Given the description of an element on the screen output the (x, y) to click on. 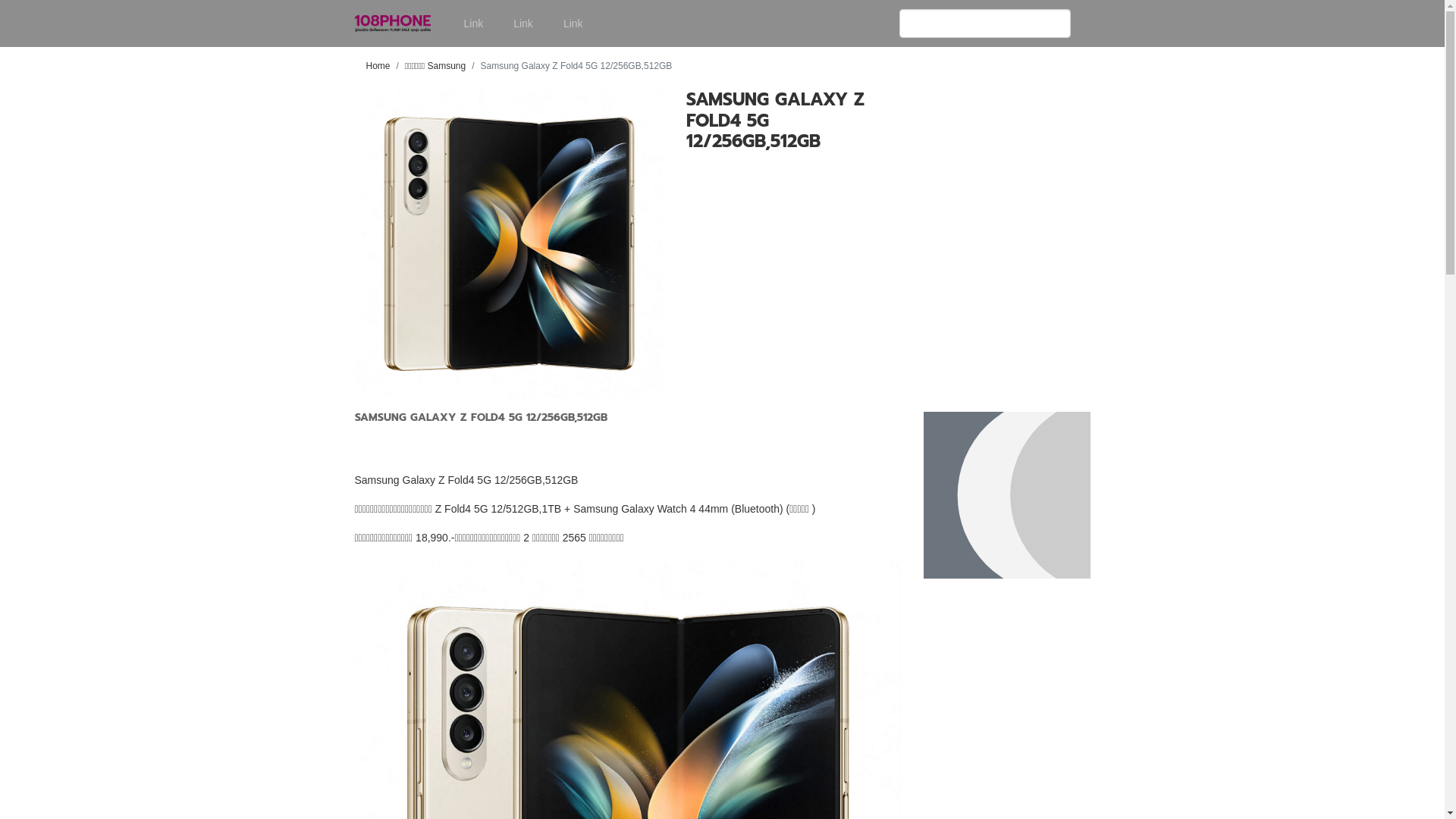
Home Element type: text (377, 65)
Previous Element type: text (377, 243)
Next Element type: text (640, 243)
Link Element type: text (473, 23)
Link Element type: text (573, 23)
Link Element type: text (523, 23)
